Given the description of an element on the screen output the (x, y) to click on. 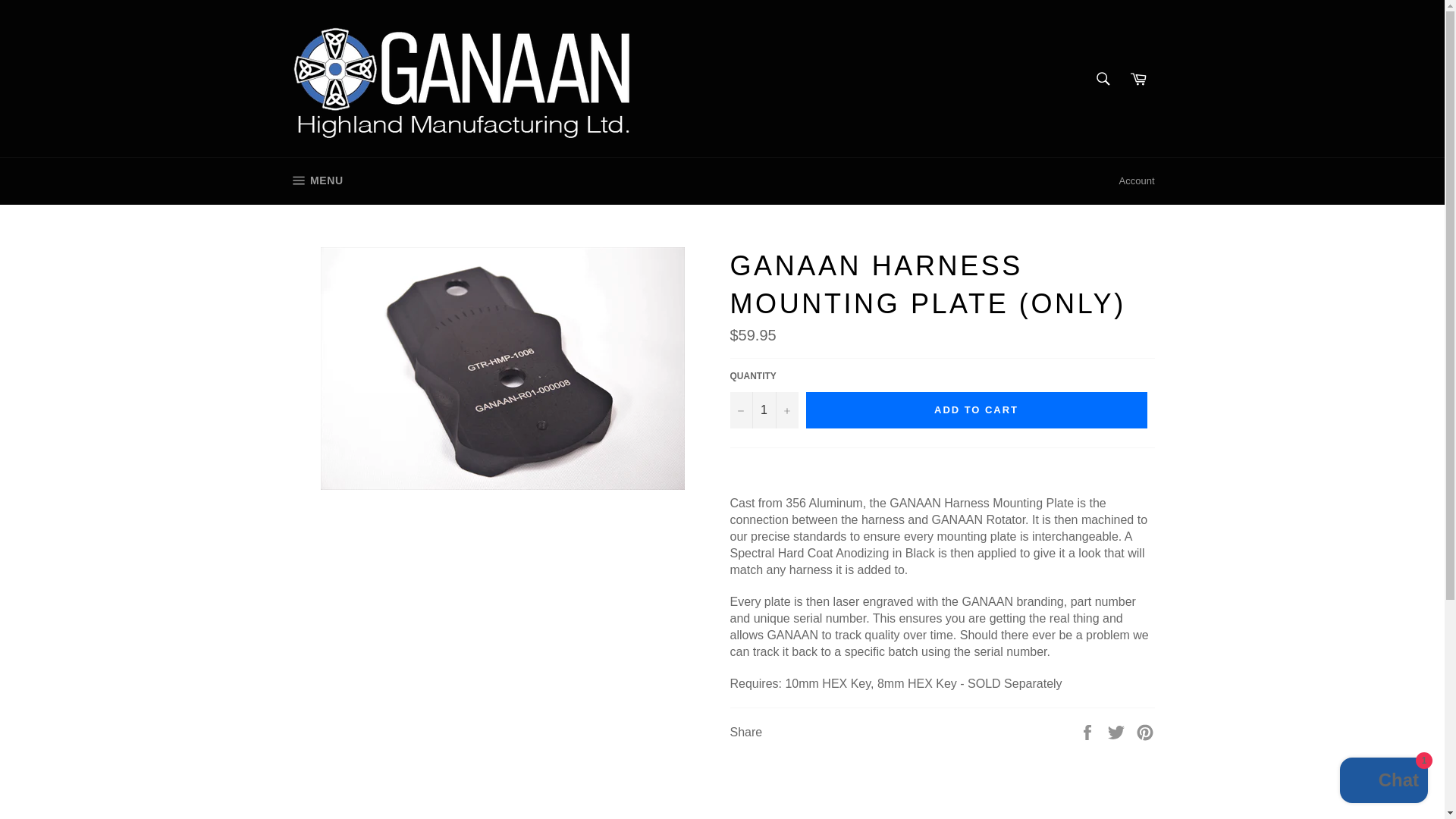
Account (1136, 180)
Cart (316, 181)
Shopify online store chat (1138, 78)
Share on Facebook (1383, 781)
Pin on Pinterest (1088, 730)
Tweet on Twitter (1144, 730)
1 (1117, 730)
Search (763, 410)
